Given the description of an element on the screen output the (x, y) to click on. 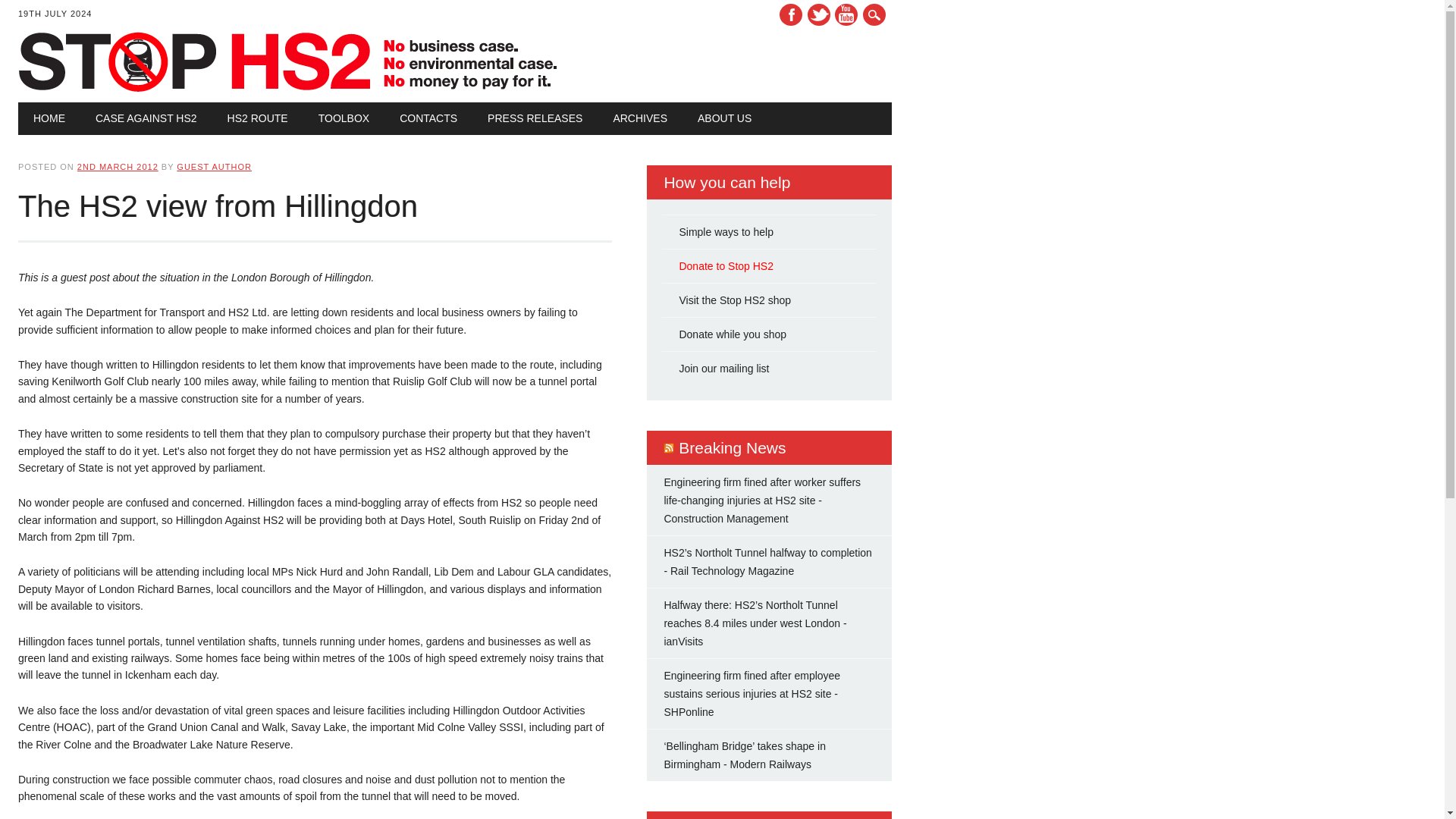
Youtube (845, 14)
ABOUT US (724, 118)
Twitter (818, 14)
PRESS RELEASES (533, 118)
2ND MARCH 2012 (117, 166)
CONTACTS (427, 118)
ARCHIVES (639, 118)
HOME (48, 118)
CASE AGAINST HS2 (146, 118)
Simple ways to help (725, 232)
View all posts by Guest Author (213, 166)
TOOLBOX (343, 118)
GUEST AUTHOR (213, 166)
HS2 ROUTE (257, 118)
10:36 am (117, 166)
